Given the description of an element on the screen output the (x, y) to click on. 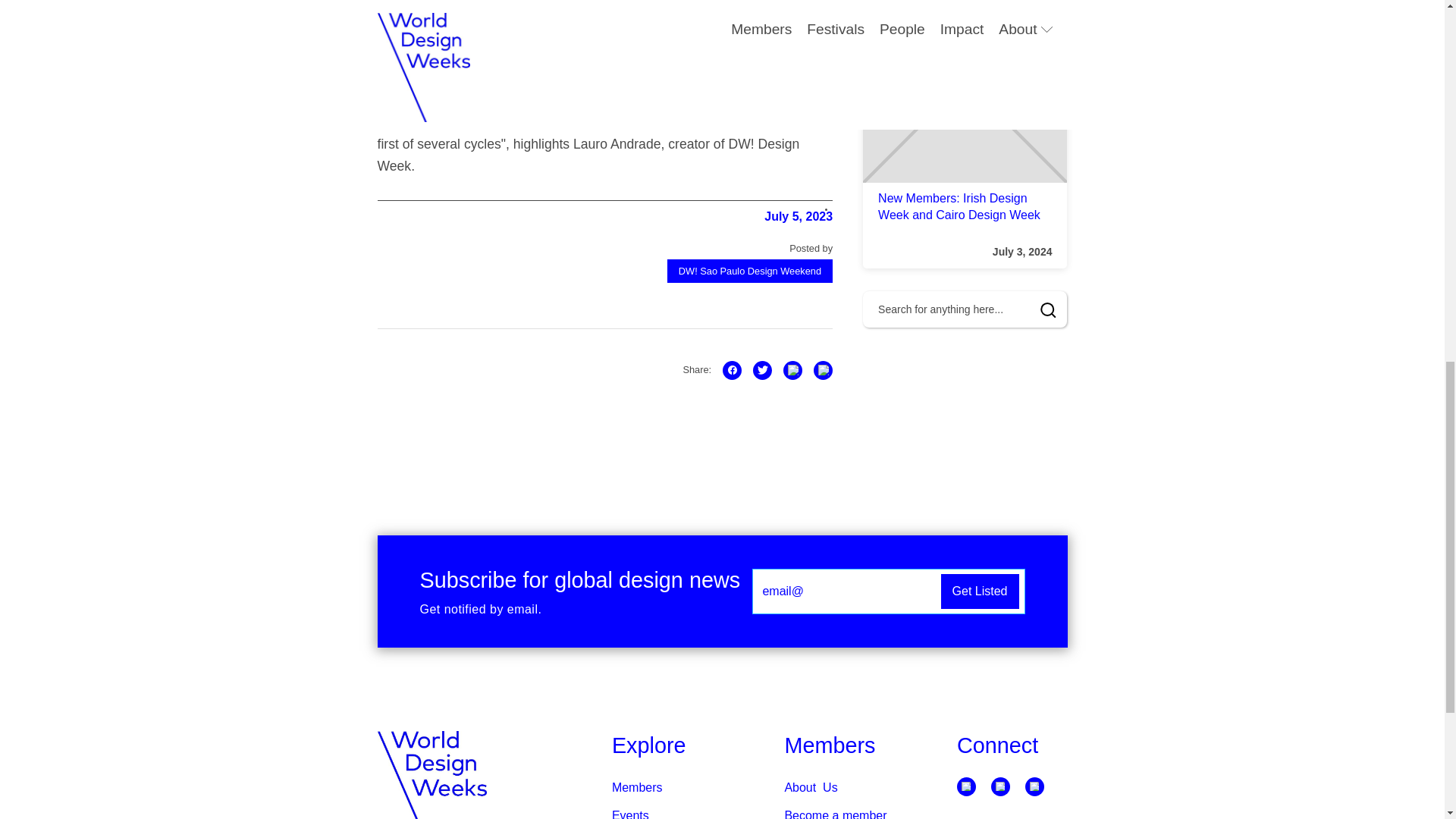
Get Listed (979, 591)
Members (636, 787)
Get Listed (979, 591)
Events (630, 814)
About  Us (810, 787)
Become a member (835, 814)
DW! Sao Paulo Design Weekend (749, 271)
